Given the description of an element on the screen output the (x, y) to click on. 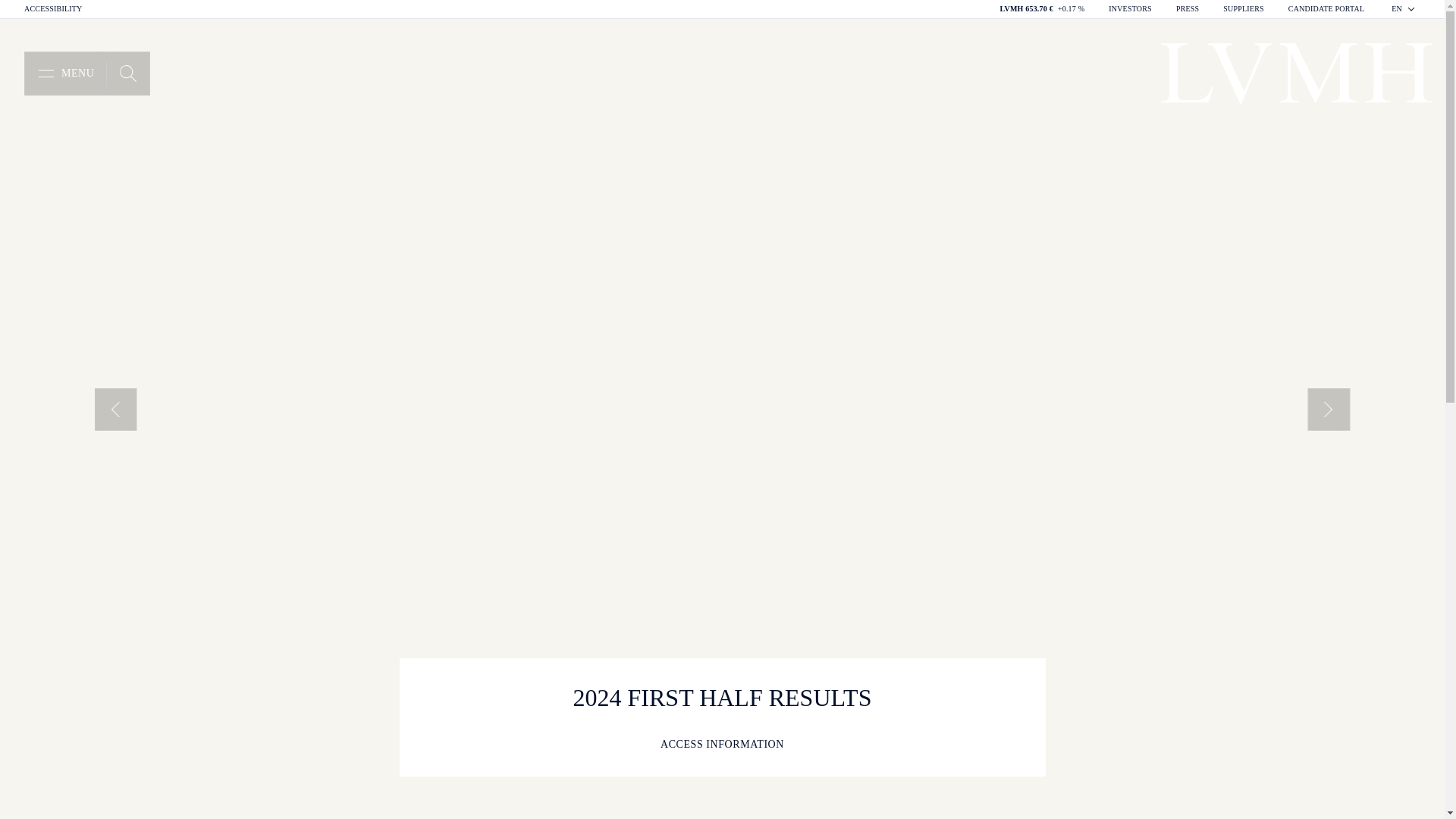
INVESTORS (1129, 9)
SEARCH (127, 73)
MENU (65, 73)
SEARCH (127, 73)
ACCESSIBILITY (53, 9)
PRESS (1187, 9)
MENU (65, 73)
SEARCH (127, 73)
LVMH Homepage (86, 73)
SUPPLIERS (1295, 73)
CANDIDATE PORTAL (1405, 9)
